Given the description of an element on the screen output the (x, y) to click on. 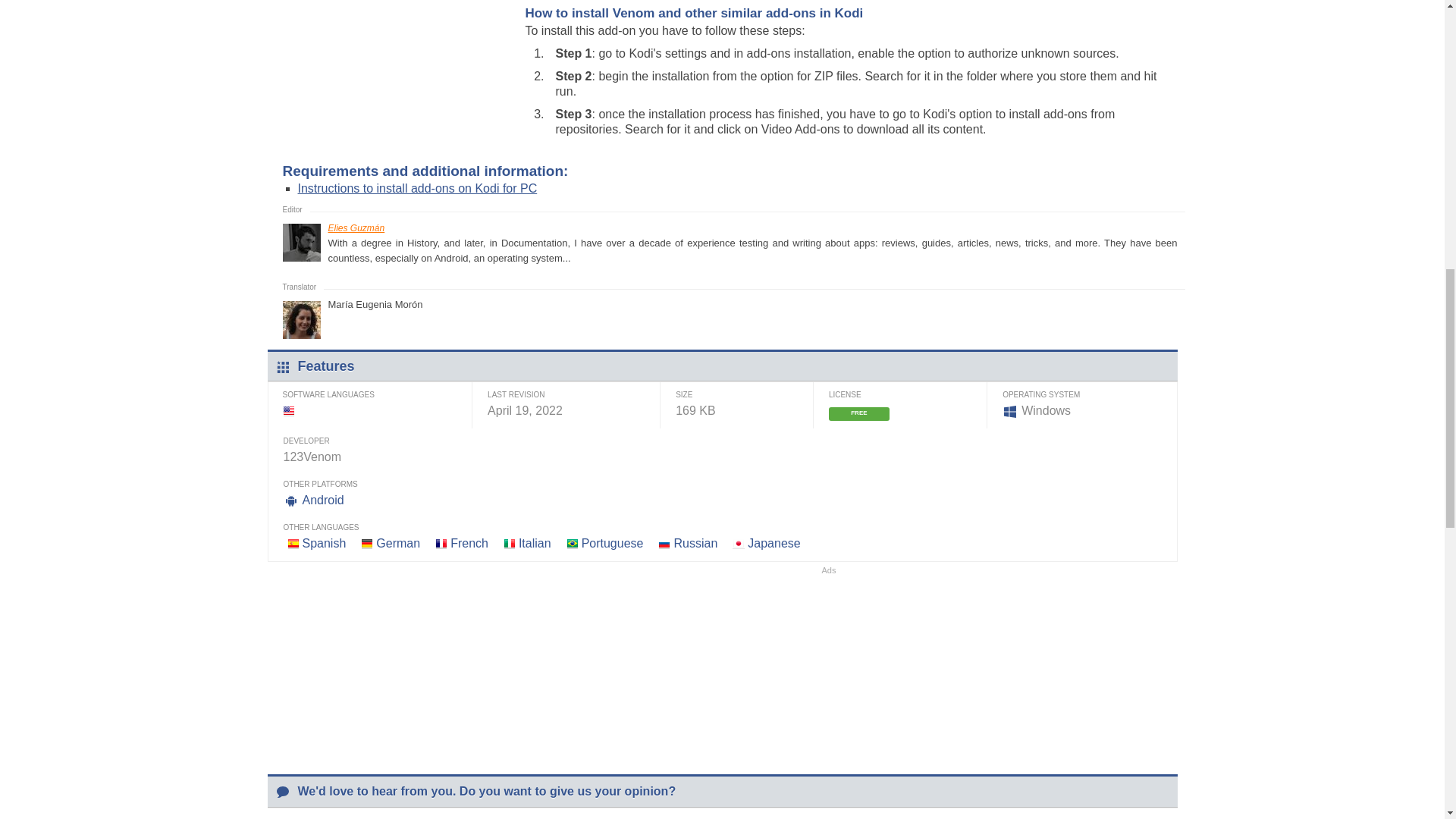
German (397, 543)
Italian (534, 543)
3rd party ad content (395, 25)
Instructions to install add-ons on Kodi for PC (417, 187)
Japanese (773, 543)
French (468, 543)
Android (322, 499)
Instructions to install add-ons on Kodi for PC (417, 187)
Portuguese (611, 543)
Spanish (323, 543)
